Given the description of an element on the screen output the (x, y) to click on. 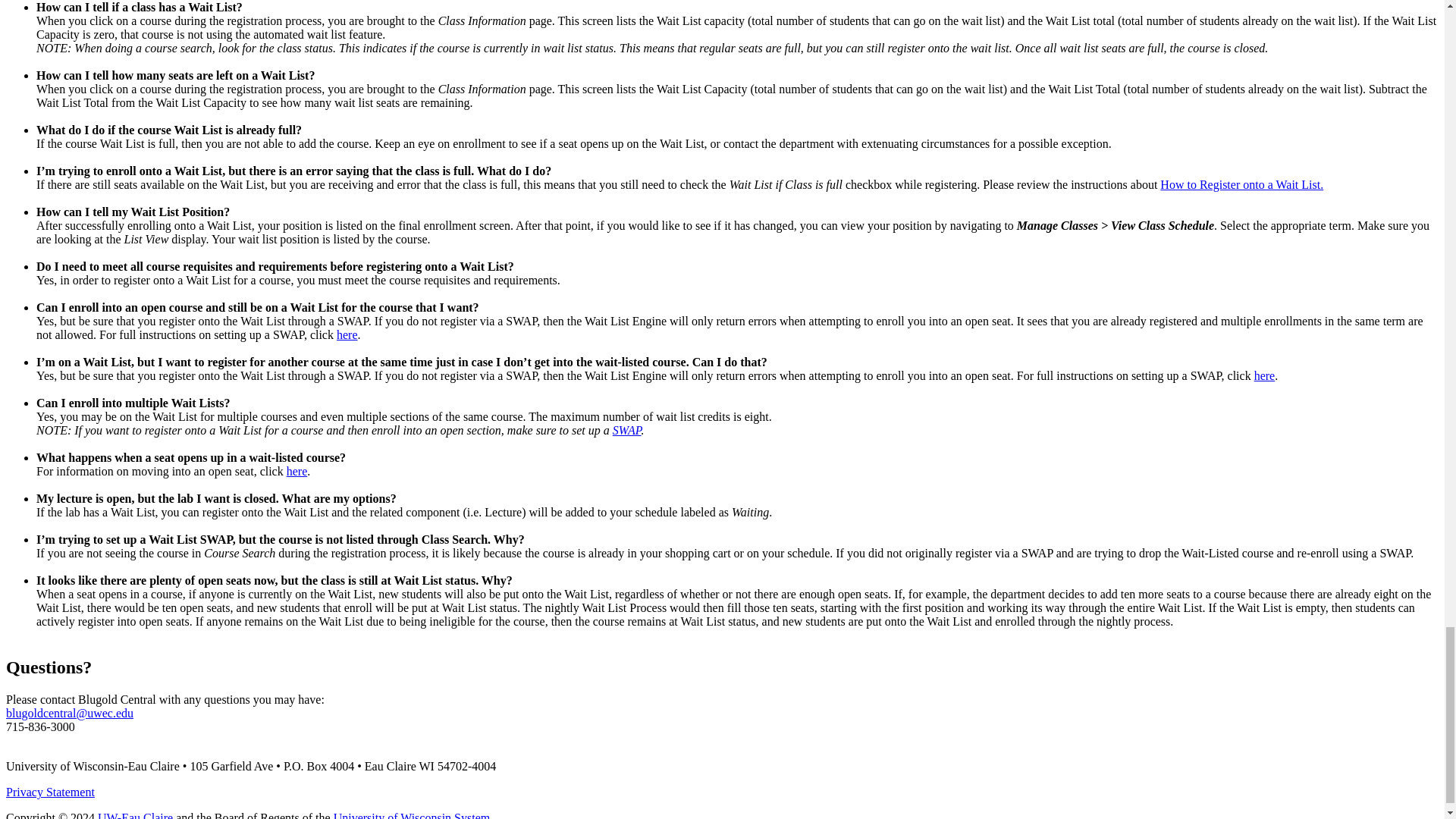
SWAP (627, 430)
here (1264, 375)
How to Register onto a Wait List. (1241, 184)
here (347, 334)
here (296, 471)
Privacy Statement (49, 791)
